Given the description of an element on the screen output the (x, y) to click on. 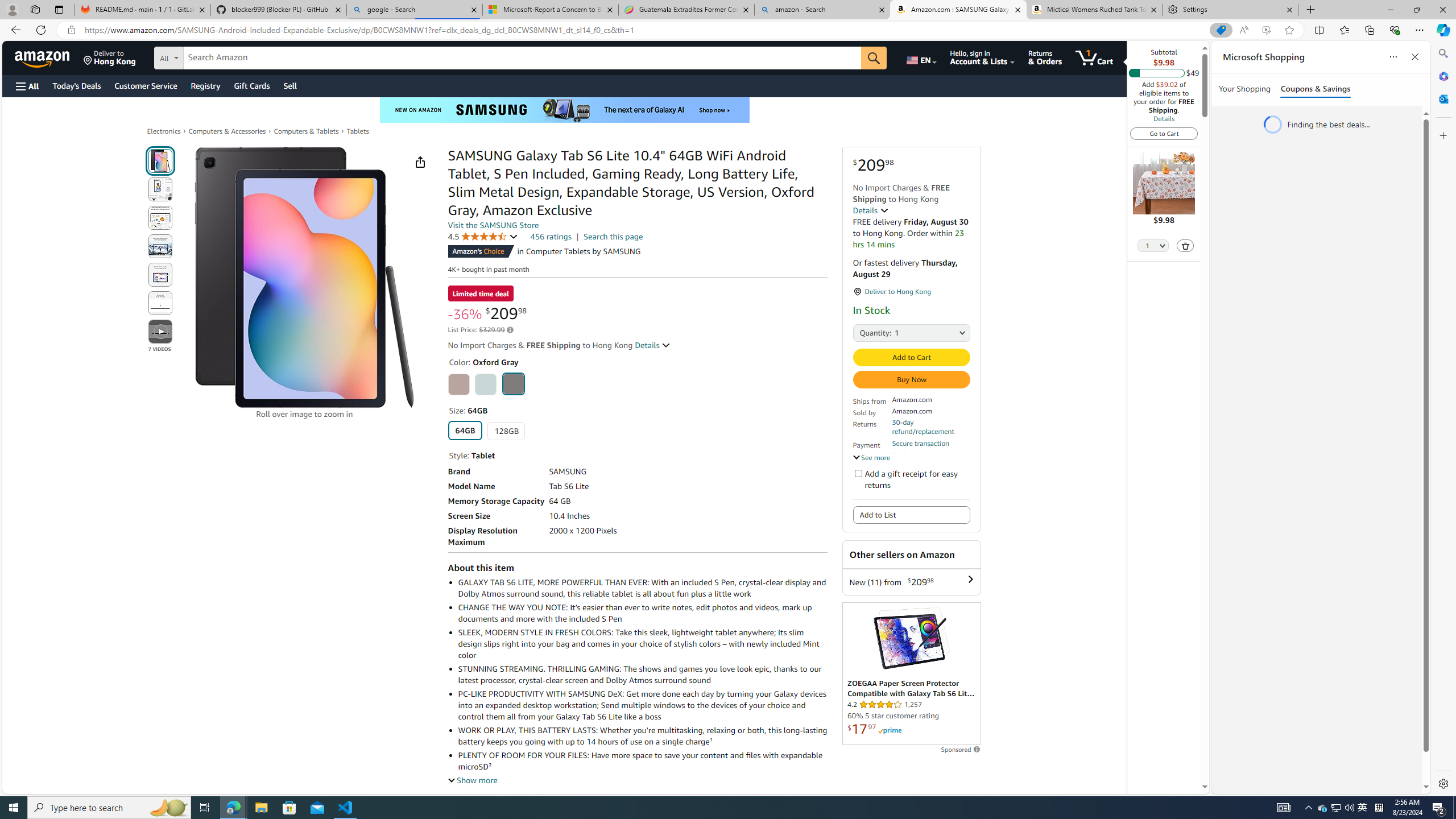
Computers & Tablets (306, 130)
Deliver to Hong Kong (109, 57)
Product support included (930, 460)
128GB (506, 430)
Gift Cards (251, 85)
Add to Cart (911, 357)
Sponsored ad (911, 672)
Hello, sign in Account & Lists (982, 57)
